Given the description of an element on the screen output the (x, y) to click on. 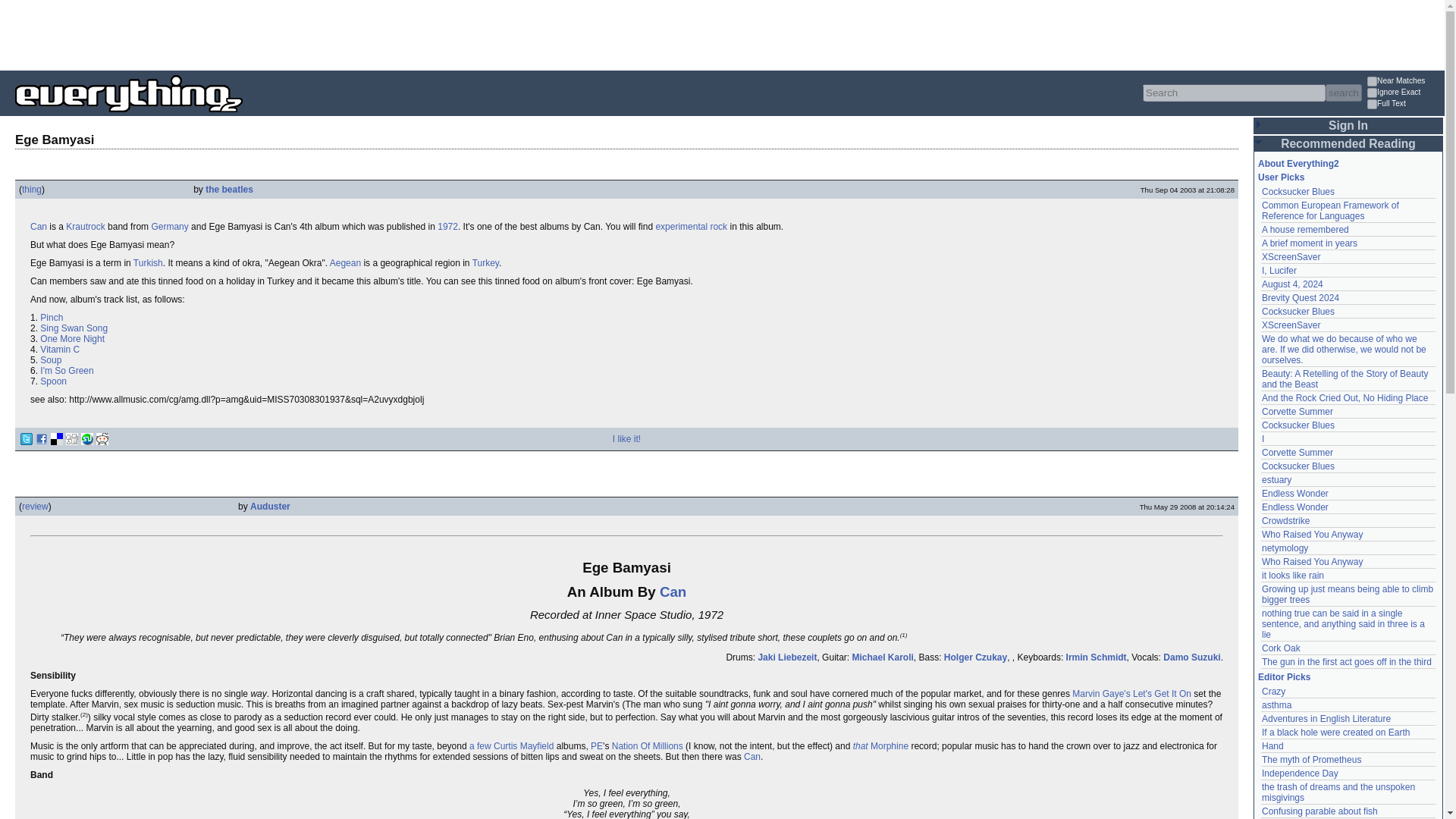
few (484, 746)
Turkey (485, 262)
Vitamin C (60, 348)
Search within Everything2 (1342, 92)
1 (1372, 81)
Vitamin C (60, 348)
search (1342, 92)
One More Night (72, 338)
1972 (448, 226)
Auduster (269, 506)
review (34, 506)
the beatles (229, 189)
Aegean (345, 262)
Spoon (53, 380)
Everything (242, 117)
